Given the description of an element on the screen output the (x, y) to click on. 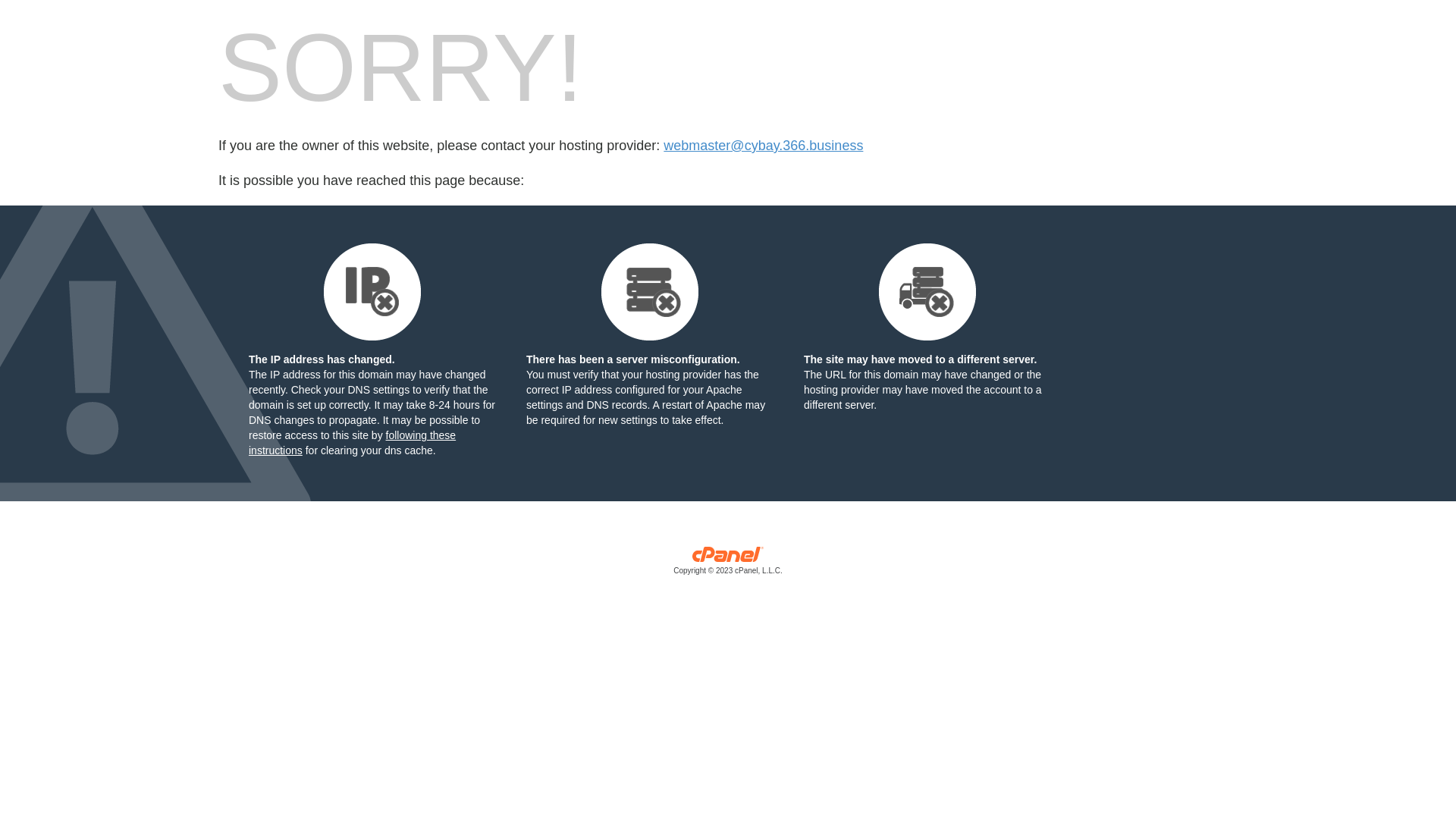
following these instructions Element type: text (351, 442)
webmaster@cybay.366.business Element type: text (762, 145)
